Given the description of an element on the screen output the (x, y) to click on. 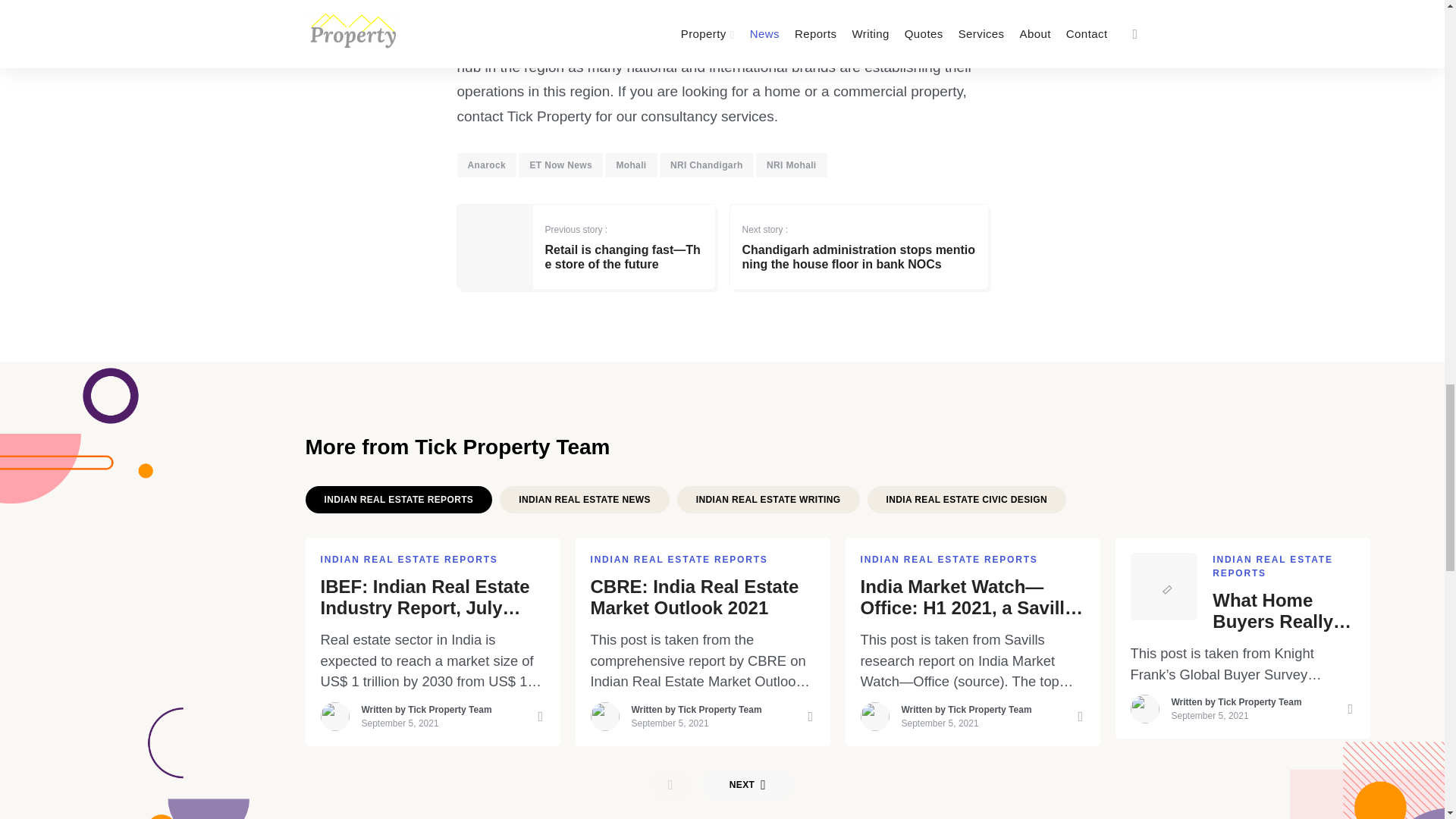
Anarock (486, 165)
NRI Mohali (791, 165)
INDIAN REAL ESTATE NEWS (584, 499)
Posts by Tick Property Team (449, 709)
INDIAN REAL ESTATE REPORTS (398, 499)
INDIAN REAL ESTATE WRITING (768, 499)
INDIA REAL ESTATE CIVIC DESIGN (966, 499)
ET Now News (560, 165)
IBEF: Indian Real Estate Industry Report, July 2021 (432, 597)
INDIAN REAL ESTATE REPORTS (408, 559)
NRI Chandigarh (706, 165)
Posts by Tick Property Team (719, 709)
Mohali (630, 165)
